Given the description of an element on the screen output the (x, y) to click on. 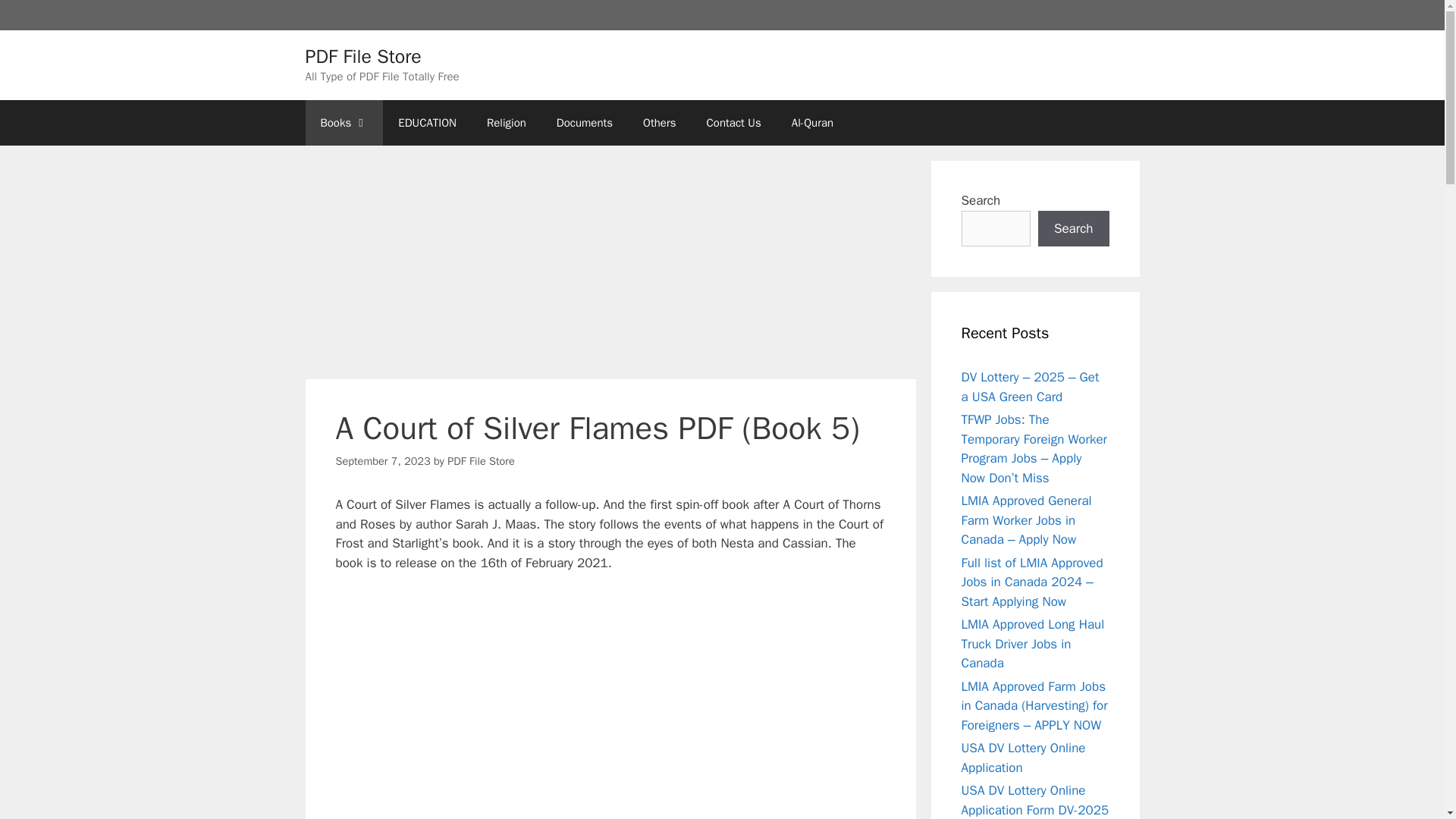
Books (343, 122)
Others (658, 122)
EDUCATION (426, 122)
Advertisement (609, 266)
Contact Us (733, 122)
Advertisement (610, 698)
LMIA Approved Long Haul Truck Driver Jobs in Canada (1032, 643)
Religion (506, 122)
View all posts by PDF File Store (480, 460)
USA DV Lottery Online Application (1023, 757)
PDF File Store (480, 460)
Search (1073, 228)
Al-Quran (812, 122)
PDF File Store (362, 55)
Documents (584, 122)
